Given the description of an element on the screen output the (x, y) to click on. 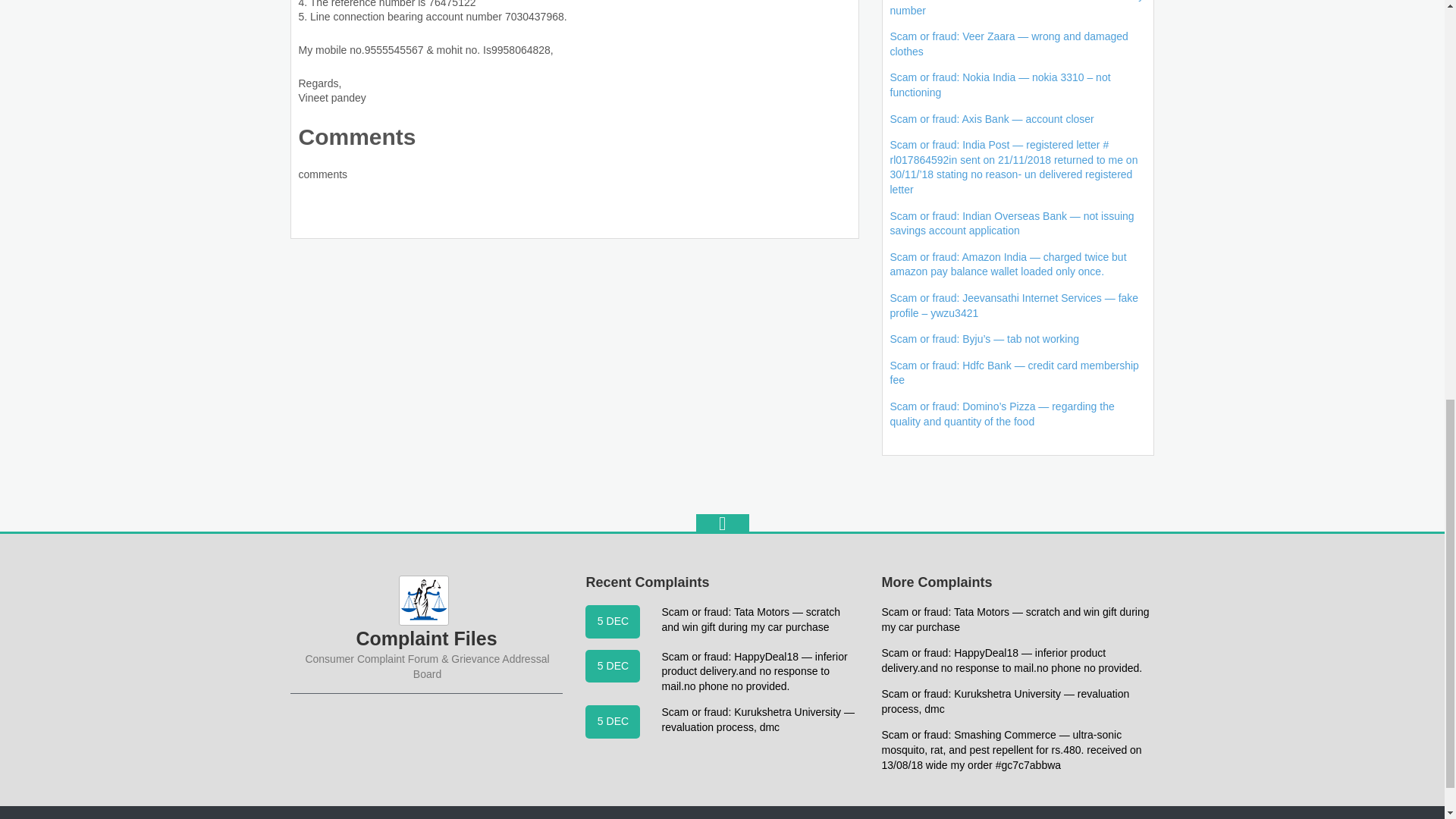
5 DEC (612, 621)
5 DEC (612, 665)
5 DEC (612, 721)
